Given the description of an element on the screen output the (x, y) to click on. 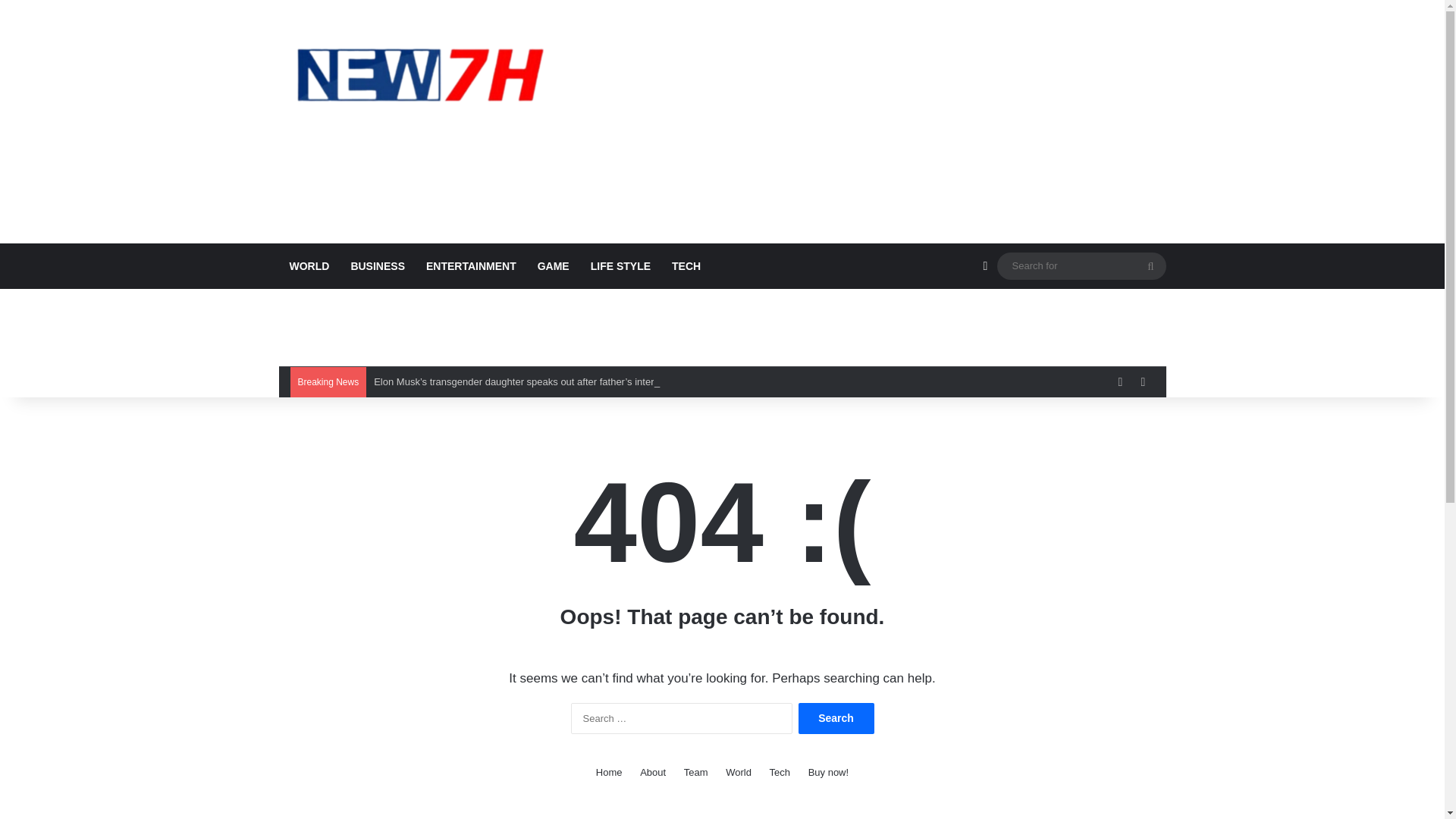
ENTERTAINMENT (470, 266)
Buy now! (828, 772)
News7h (419, 73)
Tech (780, 772)
Random Article (1119, 381)
Search (835, 717)
GAME (553, 266)
LIFE STYLE (620, 266)
Team (695, 772)
Search (835, 717)
TECH (686, 266)
Random Article (984, 266)
Sidebar (1142, 381)
Search for (1150, 266)
BUSINESS (376, 266)
